Given the description of an element on the screen output the (x, y) to click on. 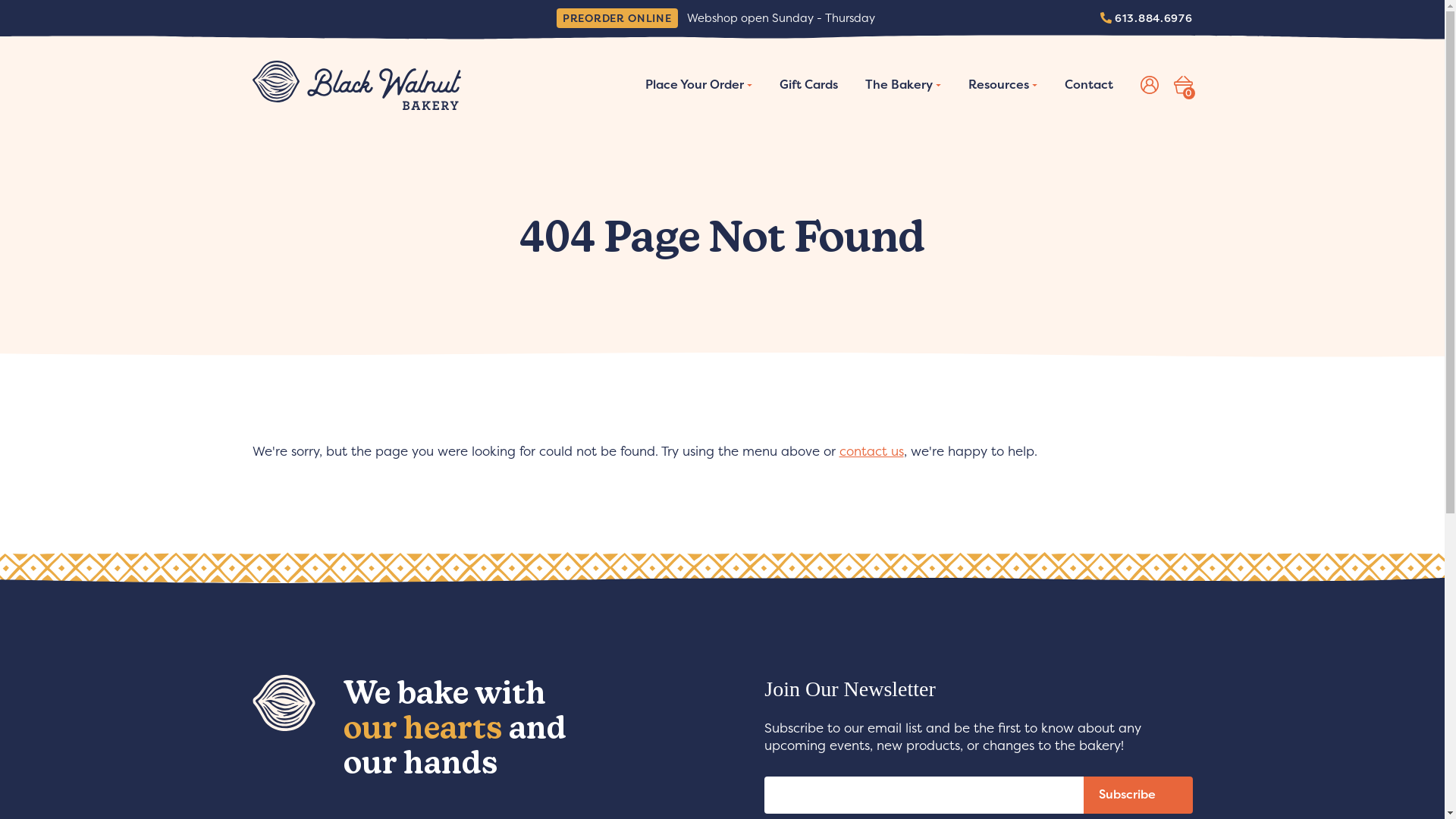
Contact Element type: text (1088, 85)
Gift Cards Element type: text (808, 85)
contact us Element type: text (870, 451)
The Bakery Element type: text (902, 85)
Resources Element type: text (1001, 85)
Place Your Order Element type: text (697, 85)
0 Element type: text (1182, 84)
Subscribe Element type: text (1137, 794)
